Given the description of an element on the screen output the (x, y) to click on. 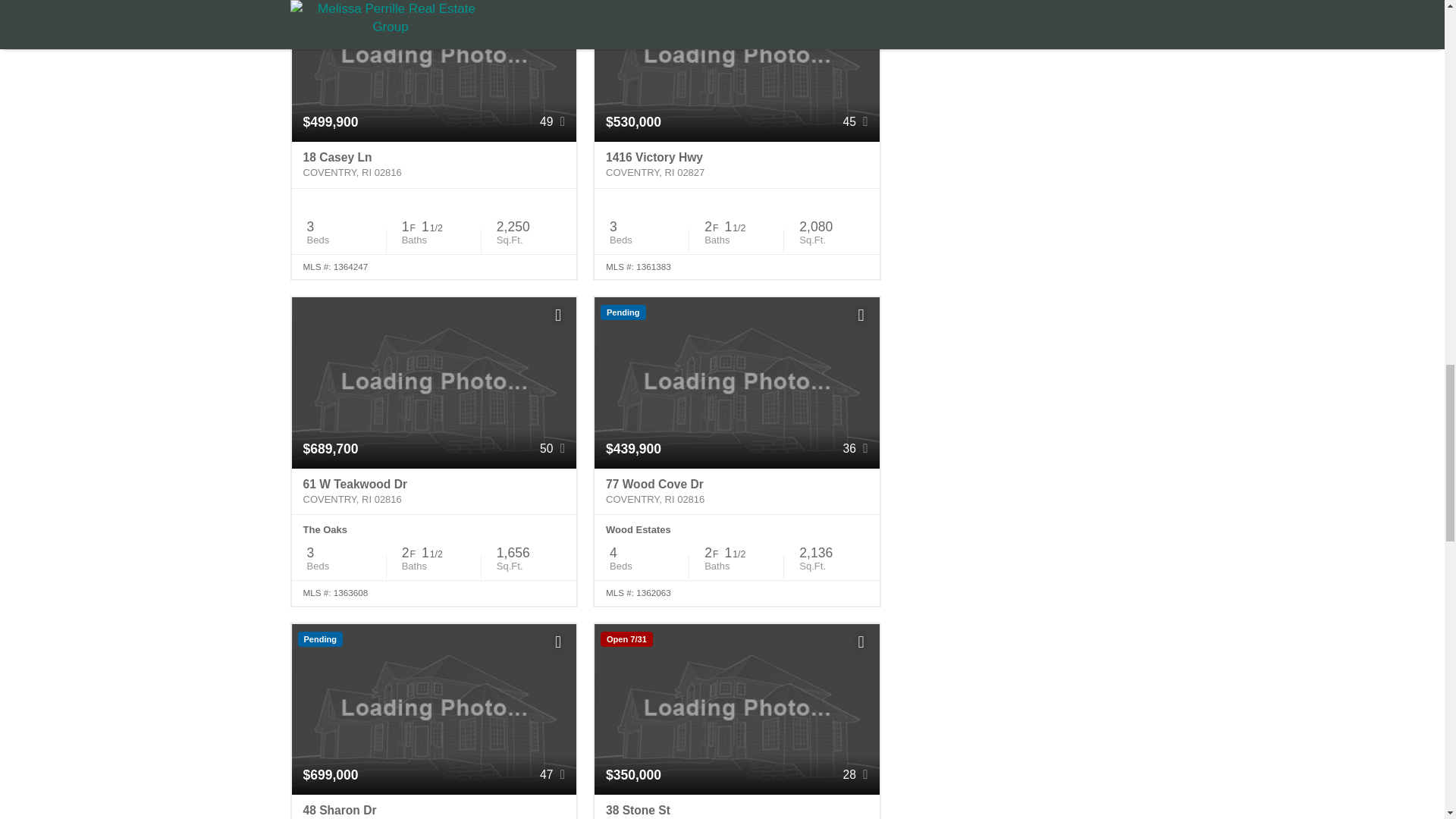
18 Casey Ln Coventry,  RI 02816 (433, 165)
1416 Victory Hwy Coventry,  RI 02827 (736, 165)
